Given the description of an element on the screen output the (x, y) to click on. 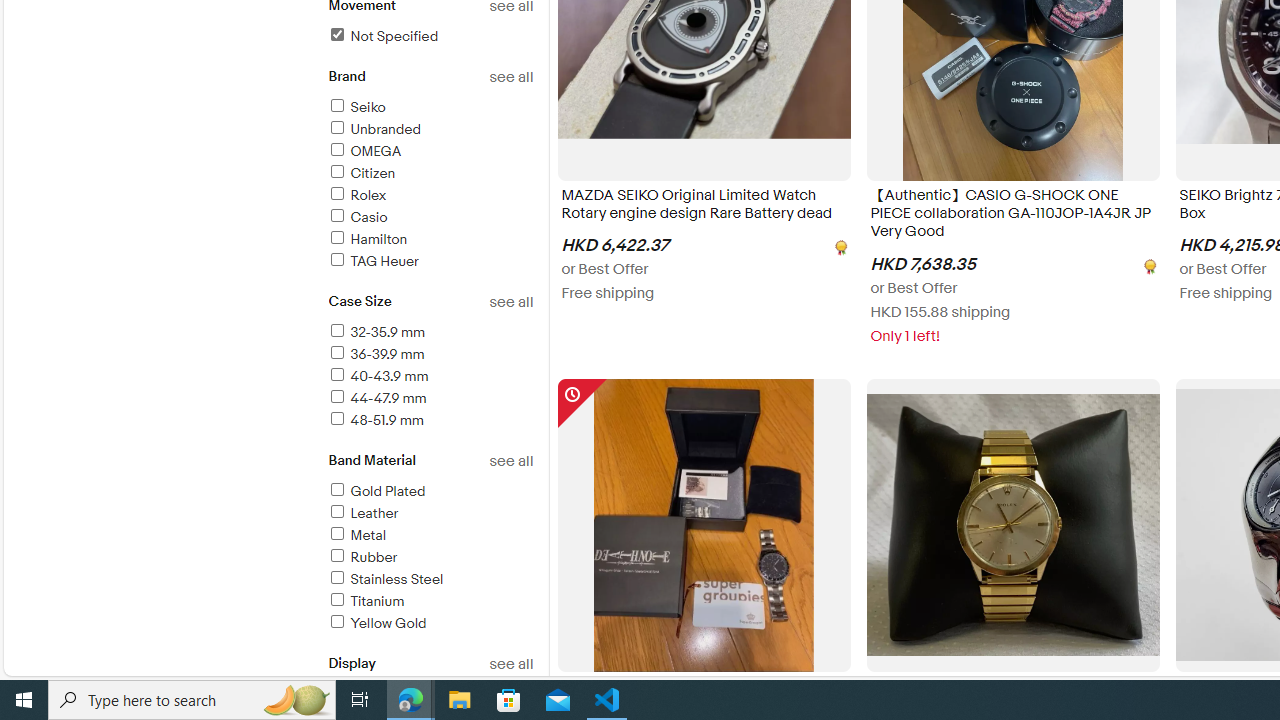
Hamilton (367, 239)
40-43.9 mm (430, 377)
Leather (362, 513)
OMEGA (430, 152)
Titanium (365, 601)
Citizen (360, 173)
36-39.9 mm (430, 355)
